Given the description of an element on the screen output the (x, y) to click on. 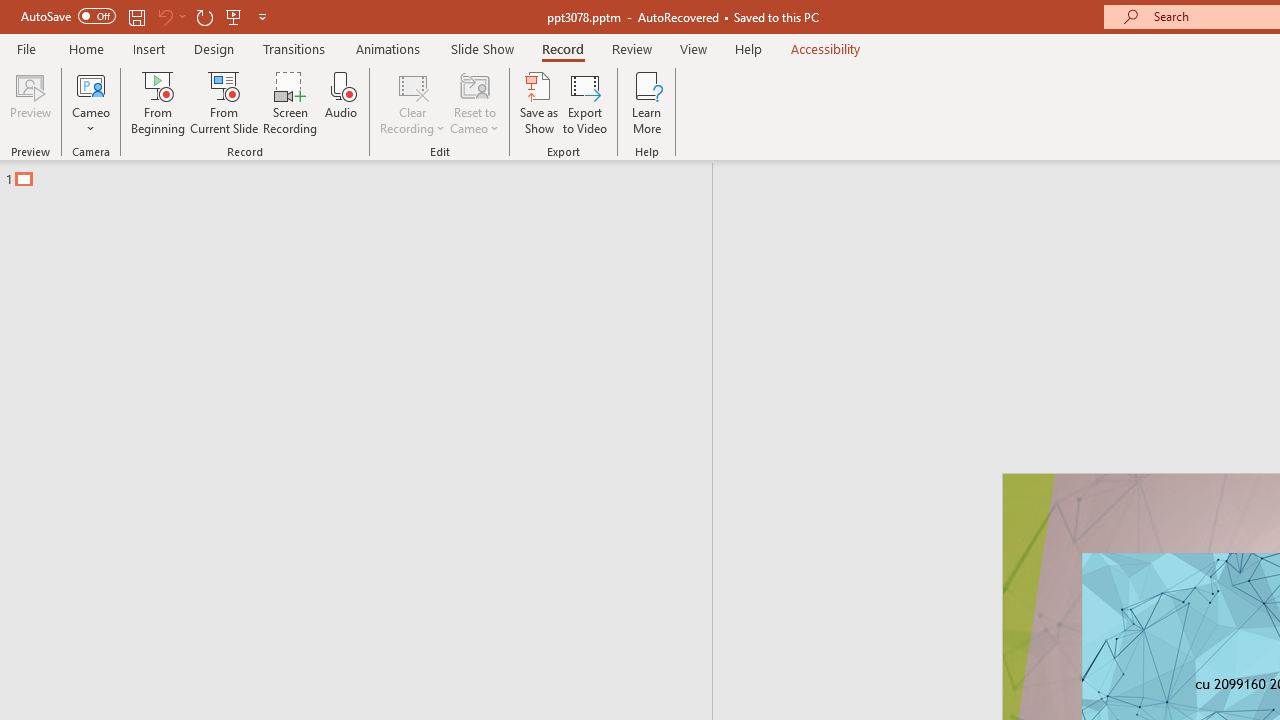
Clear Recording (412, 102)
Preview (30, 102)
Cameo (91, 84)
